Given the description of an element on the screen output the (x, y) to click on. 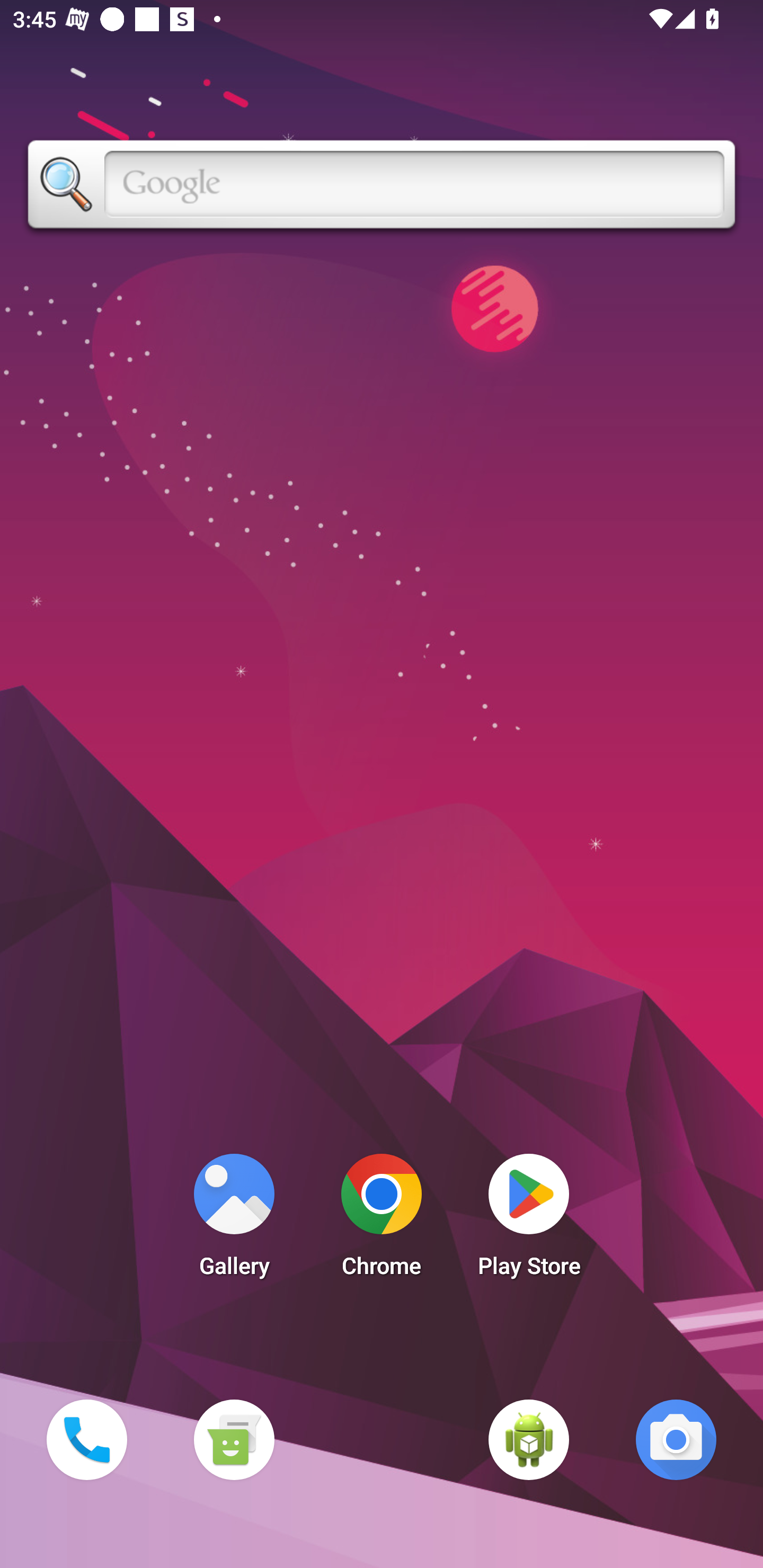
Gallery (233, 1220)
Chrome (381, 1220)
Play Store (528, 1220)
Phone (86, 1439)
Messaging (233, 1439)
WebView Browser Tester (528, 1439)
Camera (676, 1439)
